Given the description of an element on the screen output the (x, y) to click on. 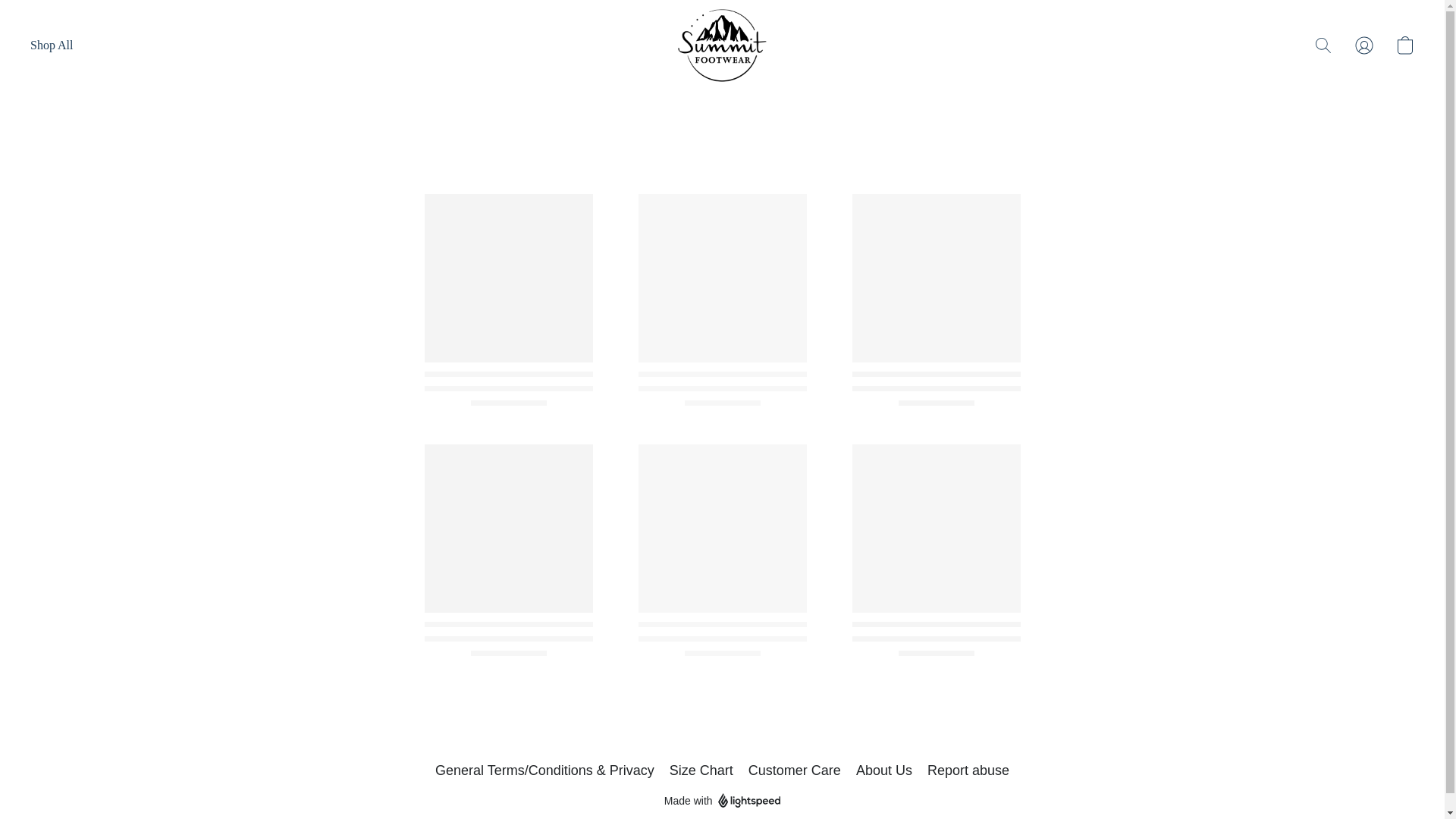
Made with (721, 800)
Go to your shopping cart (1404, 45)
Customer Care (794, 770)
Shop All (51, 45)
Search the website (1323, 45)
Size Chart (701, 770)
Report abuse (968, 770)
About Us (884, 770)
